Given the description of an element on the screen output the (x, y) to click on. 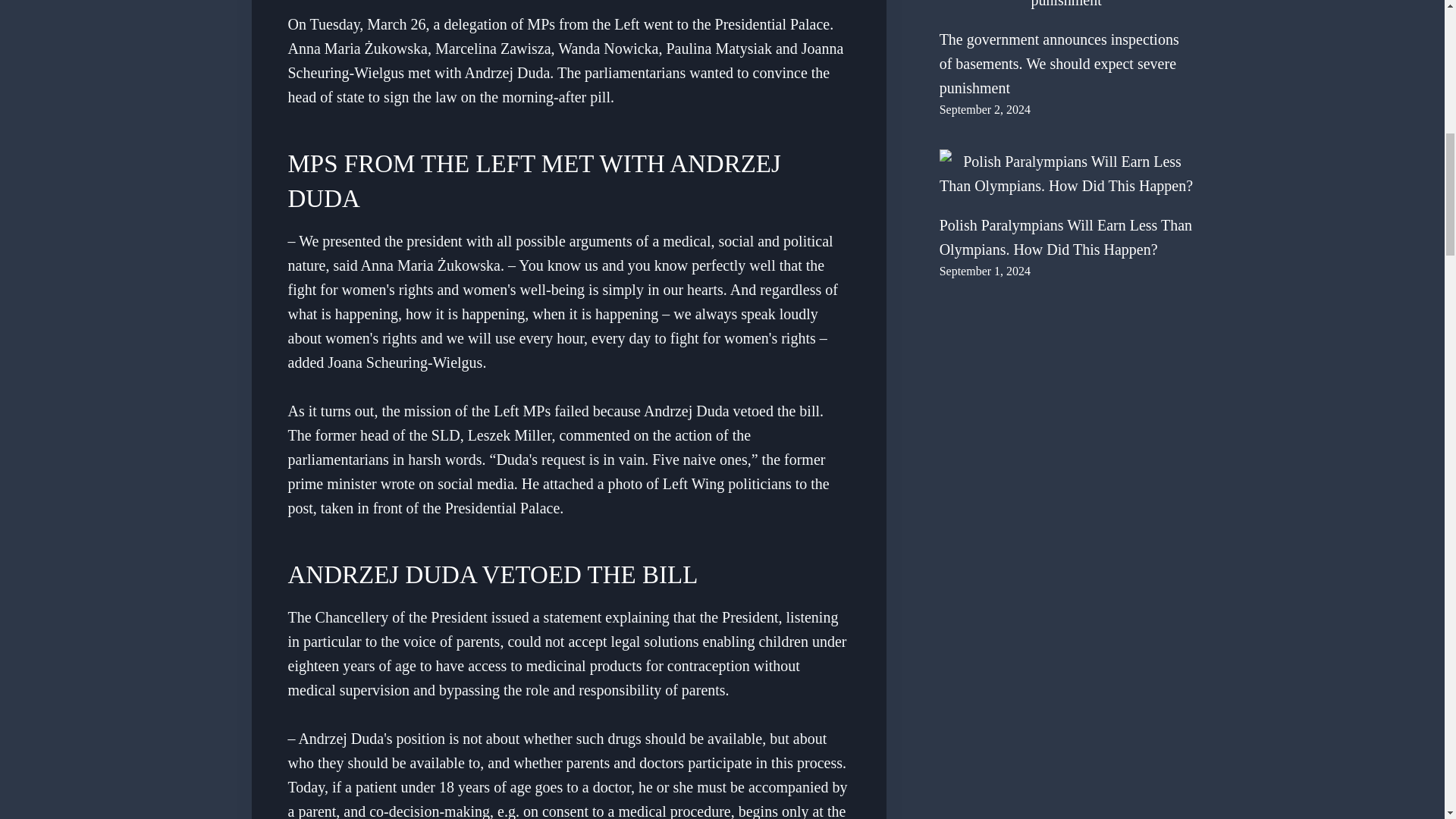
10:26 pm (984, 270)
September 2, 2024 (984, 109)
1:26 am (984, 109)
September 1, 2024 (984, 270)
